Given the description of an element on the screen output the (x, y) to click on. 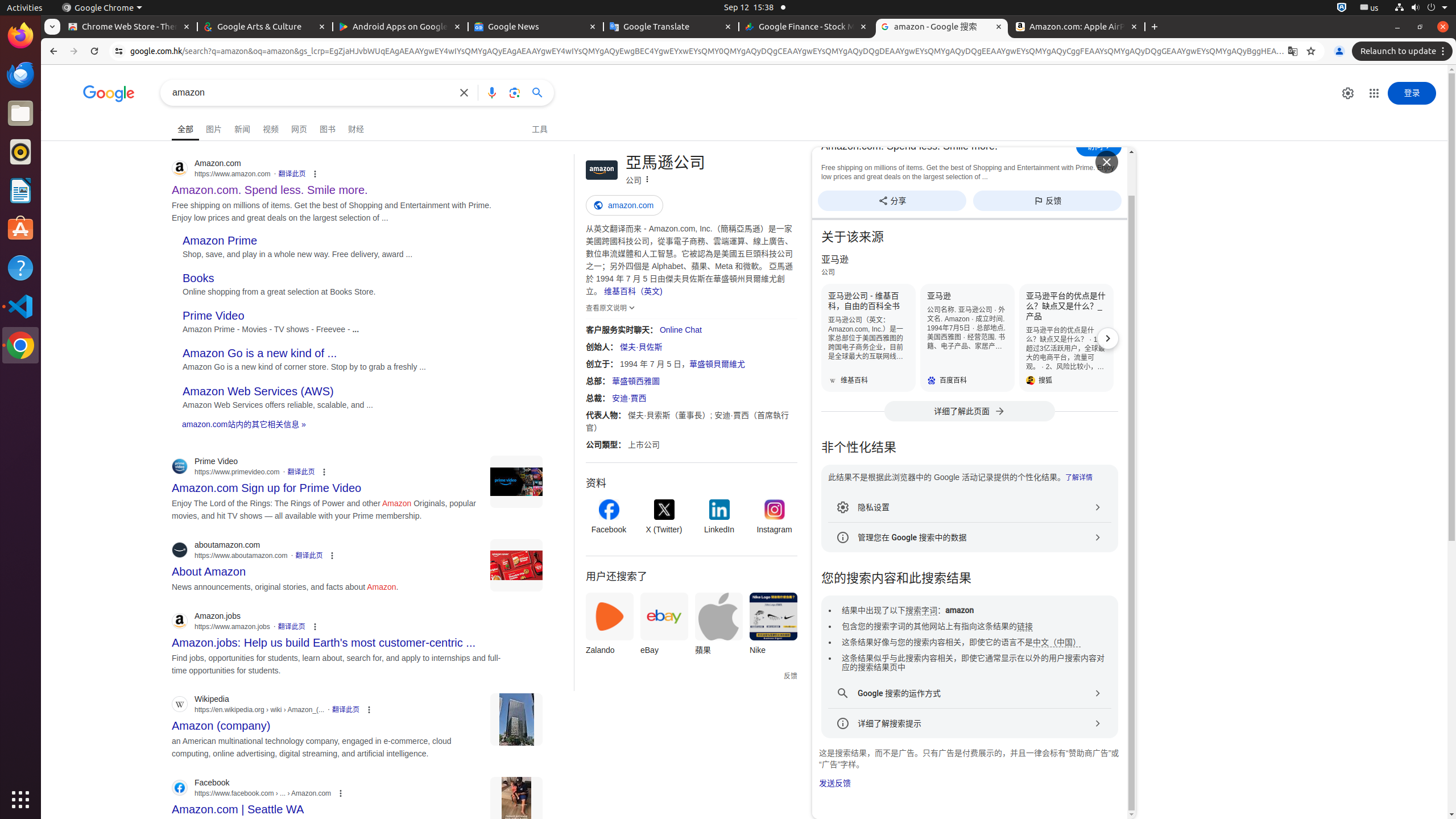
详细了解此页面 … 在新标签页中打开 Element type: link (969, 410)
来自www.primevideo.com的“amazon” Element type: link (516, 481)
视频 Element type: link (270, 127)
来自en.wikipedia.org的“amazon” Element type: link (516, 719)
Google 搜索的运作方式 Element type: link (969, 693)
